Given the description of an element on the screen output the (x, y) to click on. 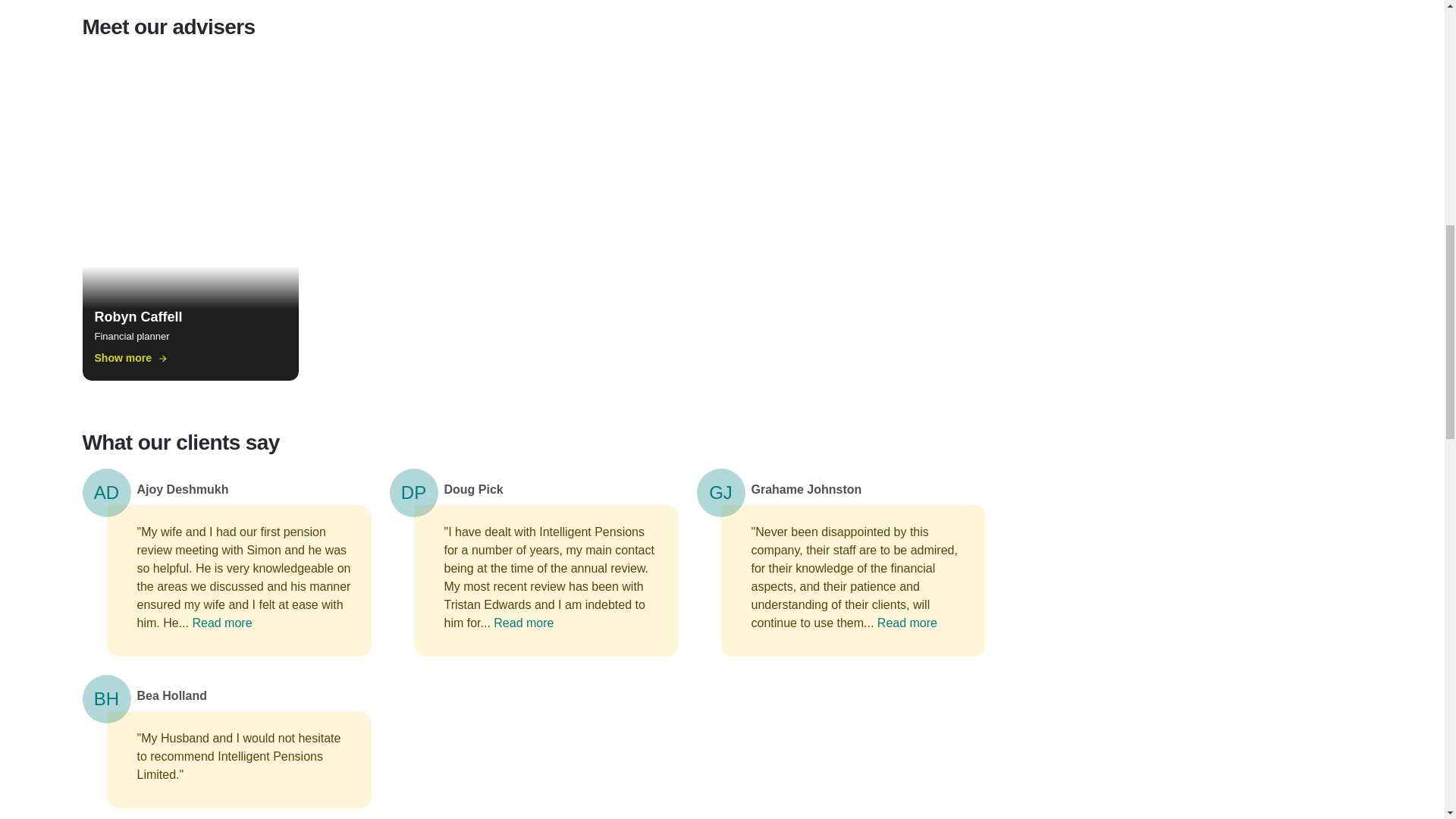
Read more (907, 623)
Read more (221, 623)
Show more (130, 358)
Read more (523, 623)
